Given the description of an element on the screen output the (x, y) to click on. 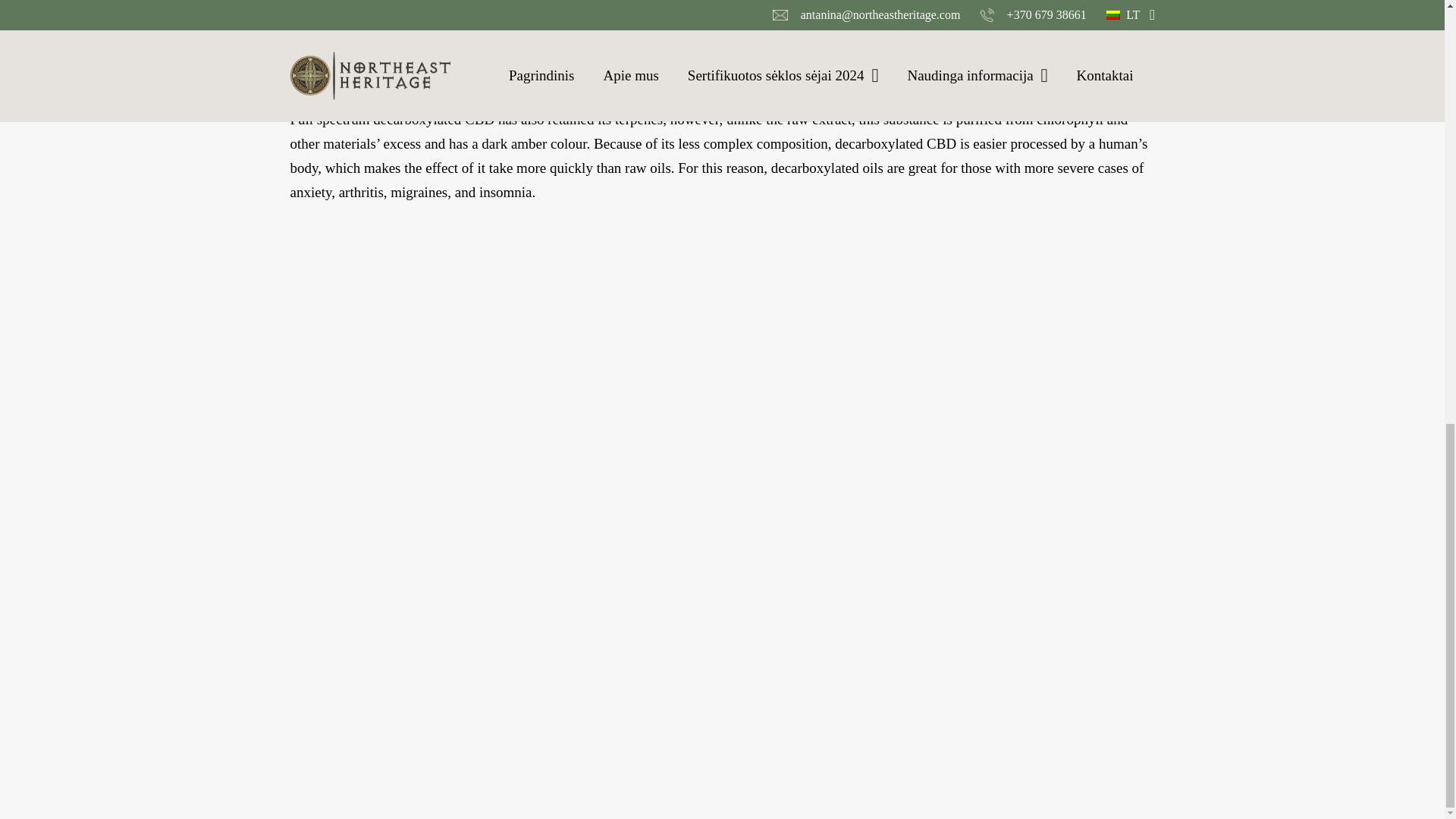
Papildoma informacija (485, 7)
